Given the description of an element on the screen output the (x, y) to click on. 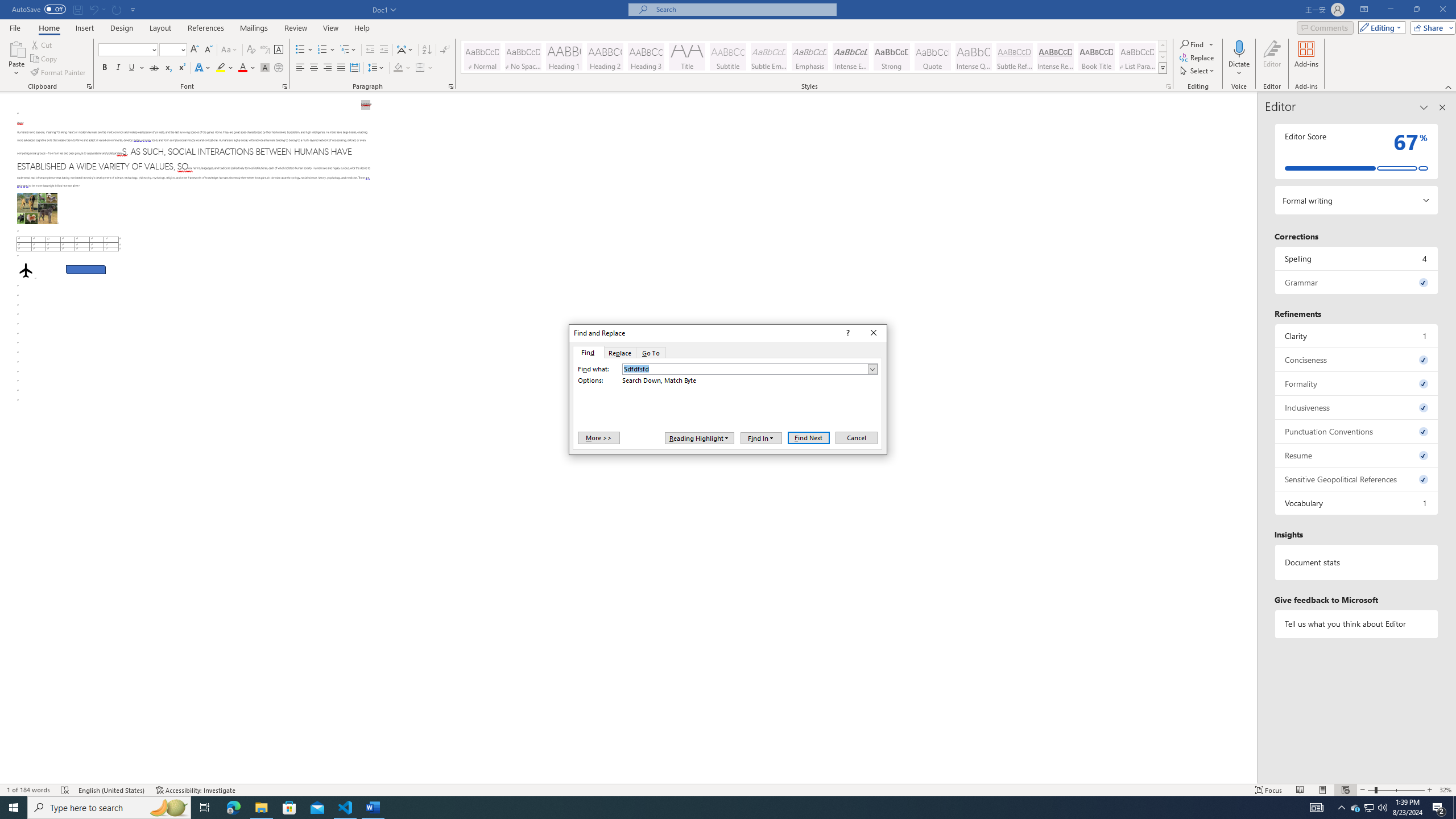
Word - 1 running window (373, 807)
AutomationID: QuickStylesGallery (814, 56)
Heading 2 (605, 56)
Strong (891, 56)
Spelling and Grammar Check Errors (65, 790)
Microsoft Store (289, 807)
